Given the description of an element on the screen output the (x, y) to click on. 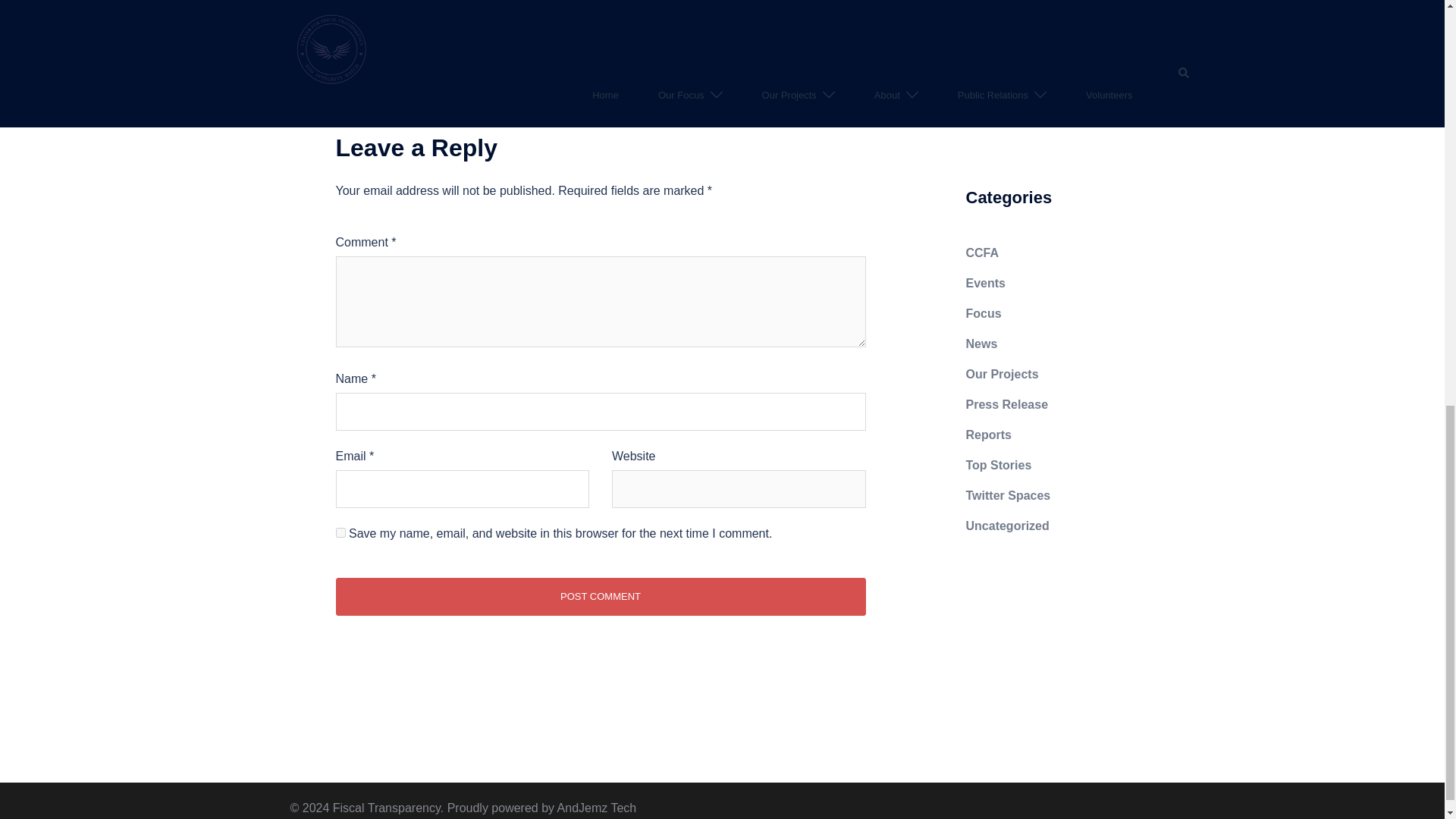
yes (339, 532)
Post Comment (599, 596)
